Given the description of an element on the screen output the (x, y) to click on. 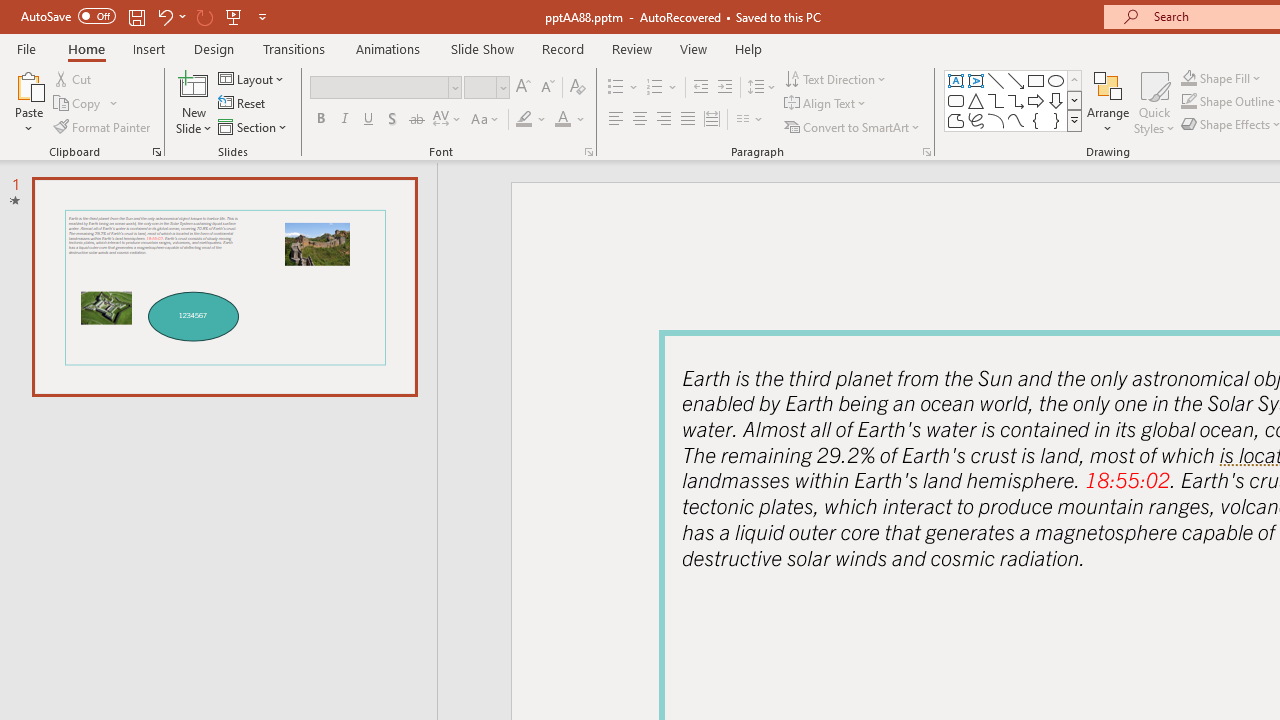
Cut (73, 78)
Clear Formatting (577, 87)
Shape Outline Teal, Accent 1 (1188, 101)
Convert to SmartArt (853, 126)
Font... (588, 151)
